Given the description of an element on the screen output the (x, y) to click on. 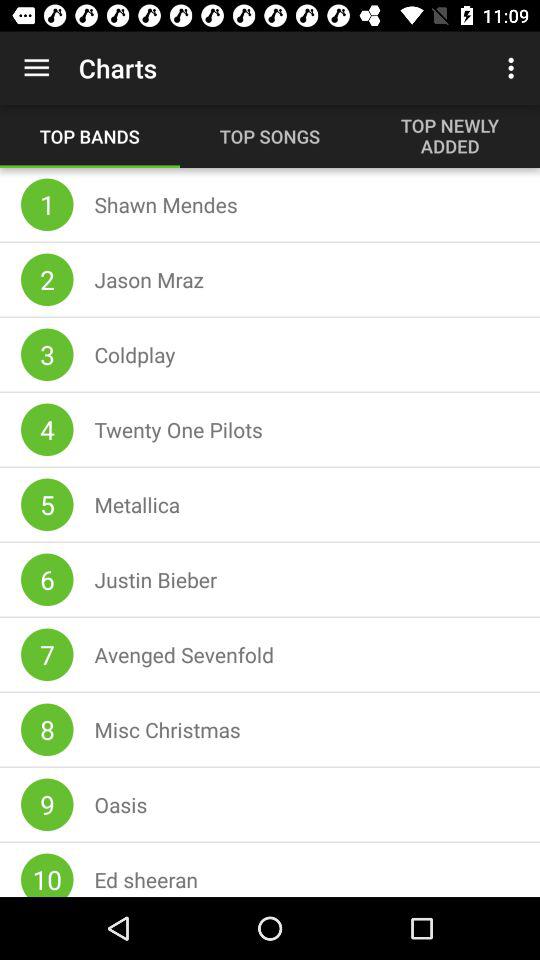
select app to the left of charts app (36, 68)
